Given the description of an element on the screen output the (x, y) to click on. 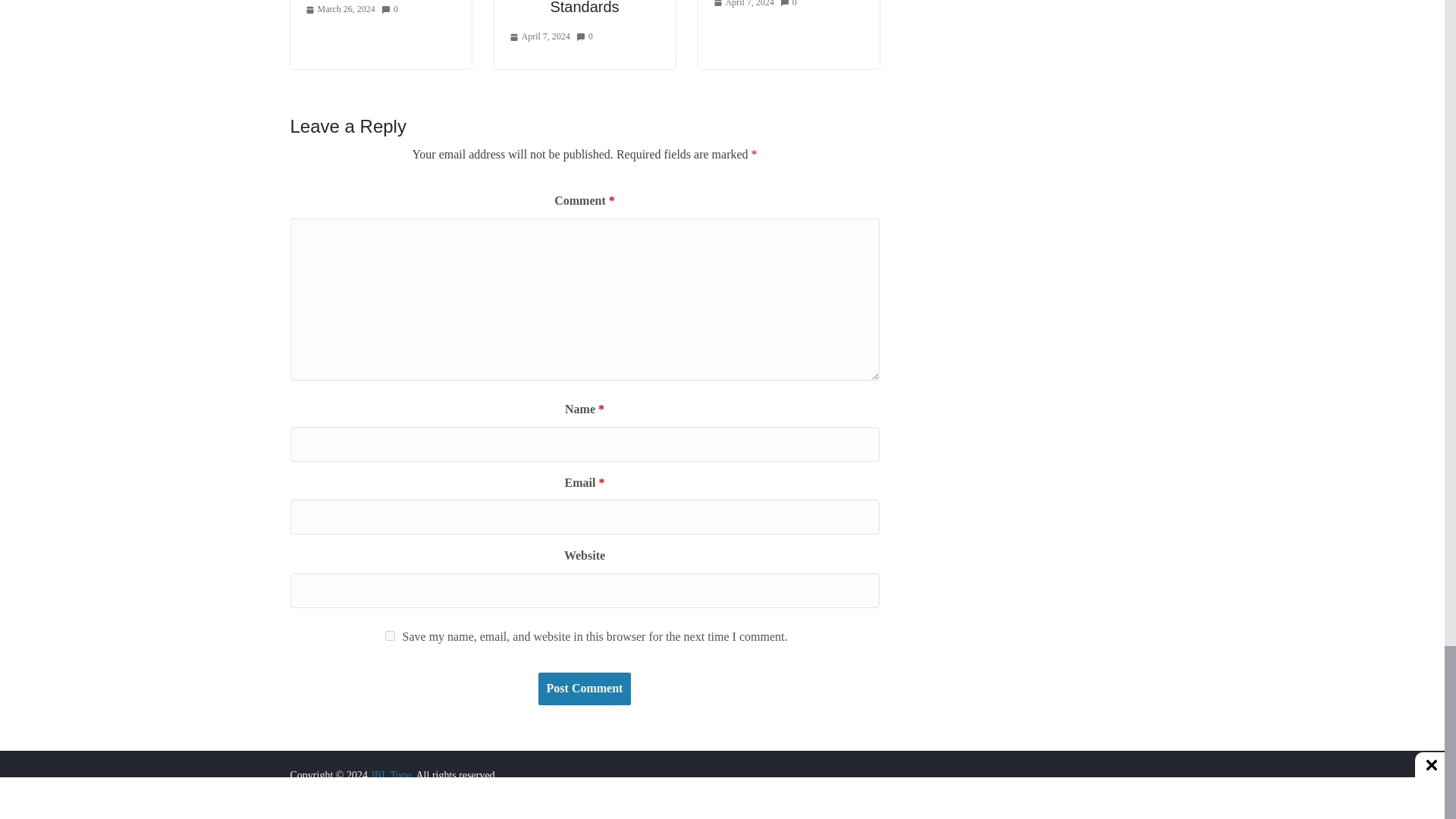
4:39 am (539, 36)
yes (389, 635)
April 7, 2024 (743, 5)
4:35 am (743, 5)
Post Comment (584, 688)
7:27 am (339, 9)
April 7, 2024 (539, 36)
Post Comment (584, 688)
March 26, 2024 (339, 9)
